Given the description of an element on the screen output the (x, y) to click on. 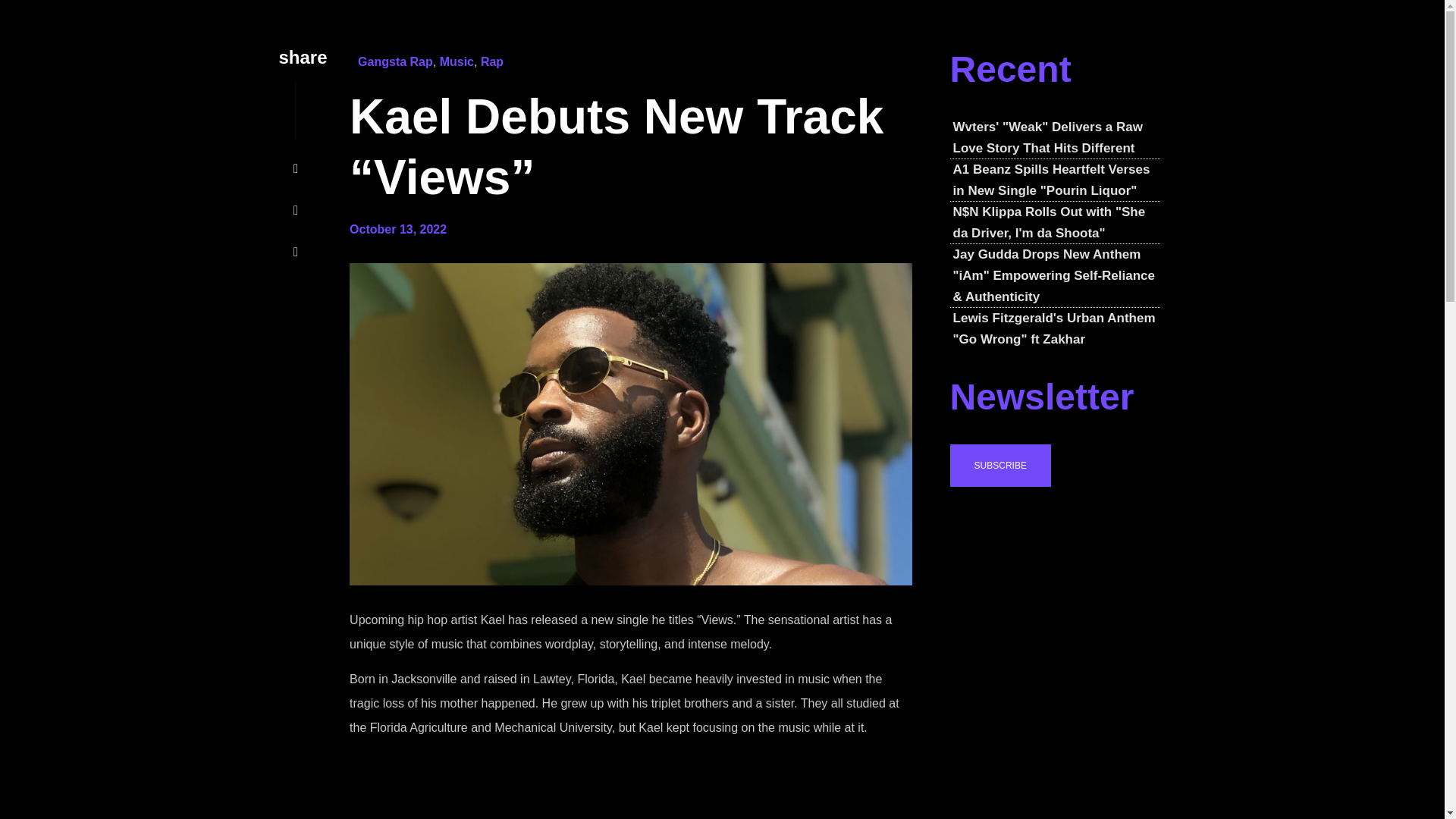
October 13, 2022 (397, 229)
Wvters' "Weak" Delivers a Raw Love Story That Hits Different (1055, 151)
Music (456, 61)
Lewis Fitzgerald's Urban Anthem "Go Wrong" ft Zakhar (1055, 328)
SUBSCRIBE (1000, 465)
Gangsta Rap (395, 61)
Rap (491, 61)
YouTube video player (630, 785)
